Given the description of an element on the screen output the (x, y) to click on. 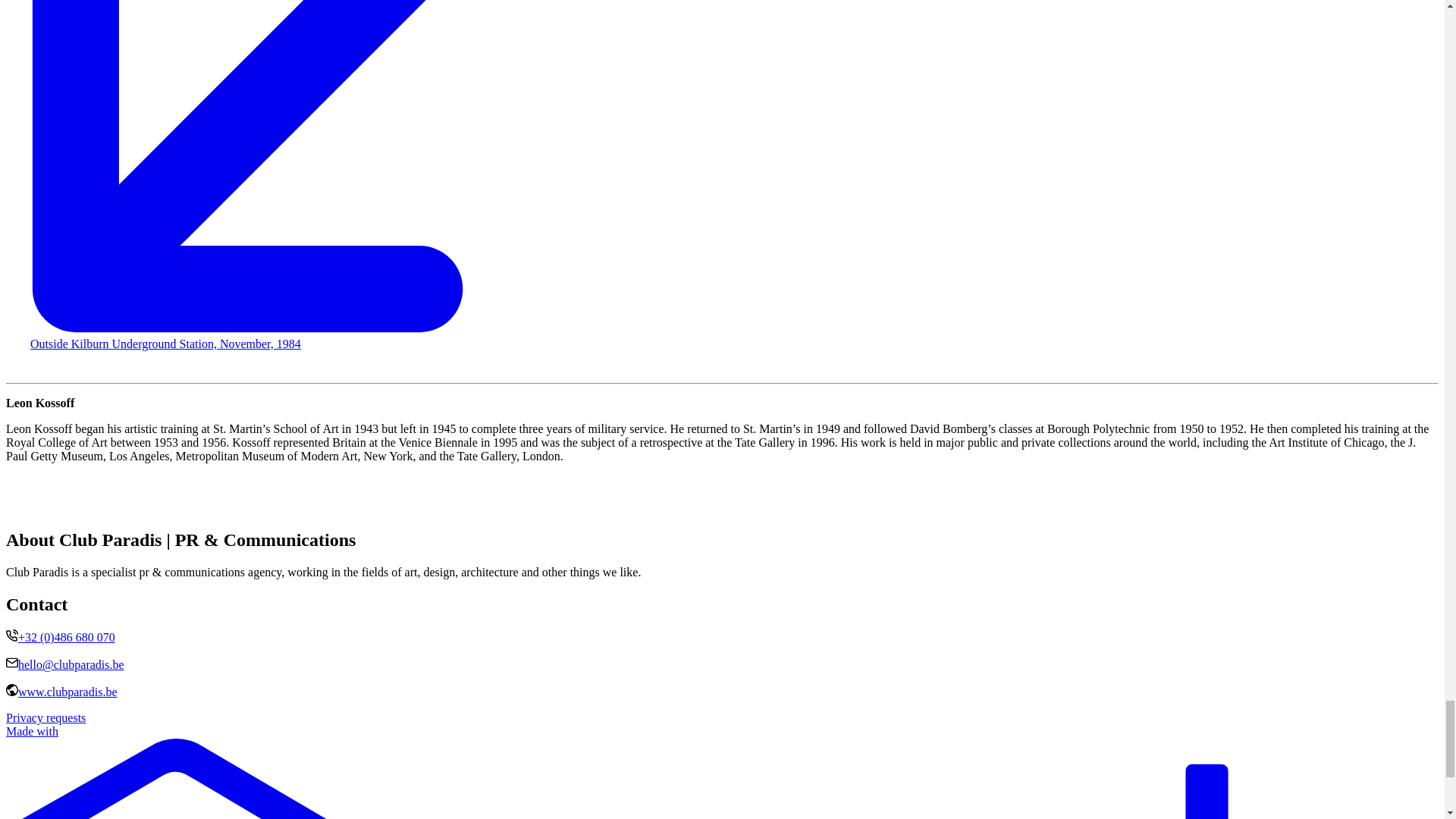
Privacy requests (45, 717)
Outside Kilburn Underground Station, November, 1984 (165, 343)
www.clubparadis.be (66, 691)
